Given the description of an element on the screen output the (x, y) to click on. 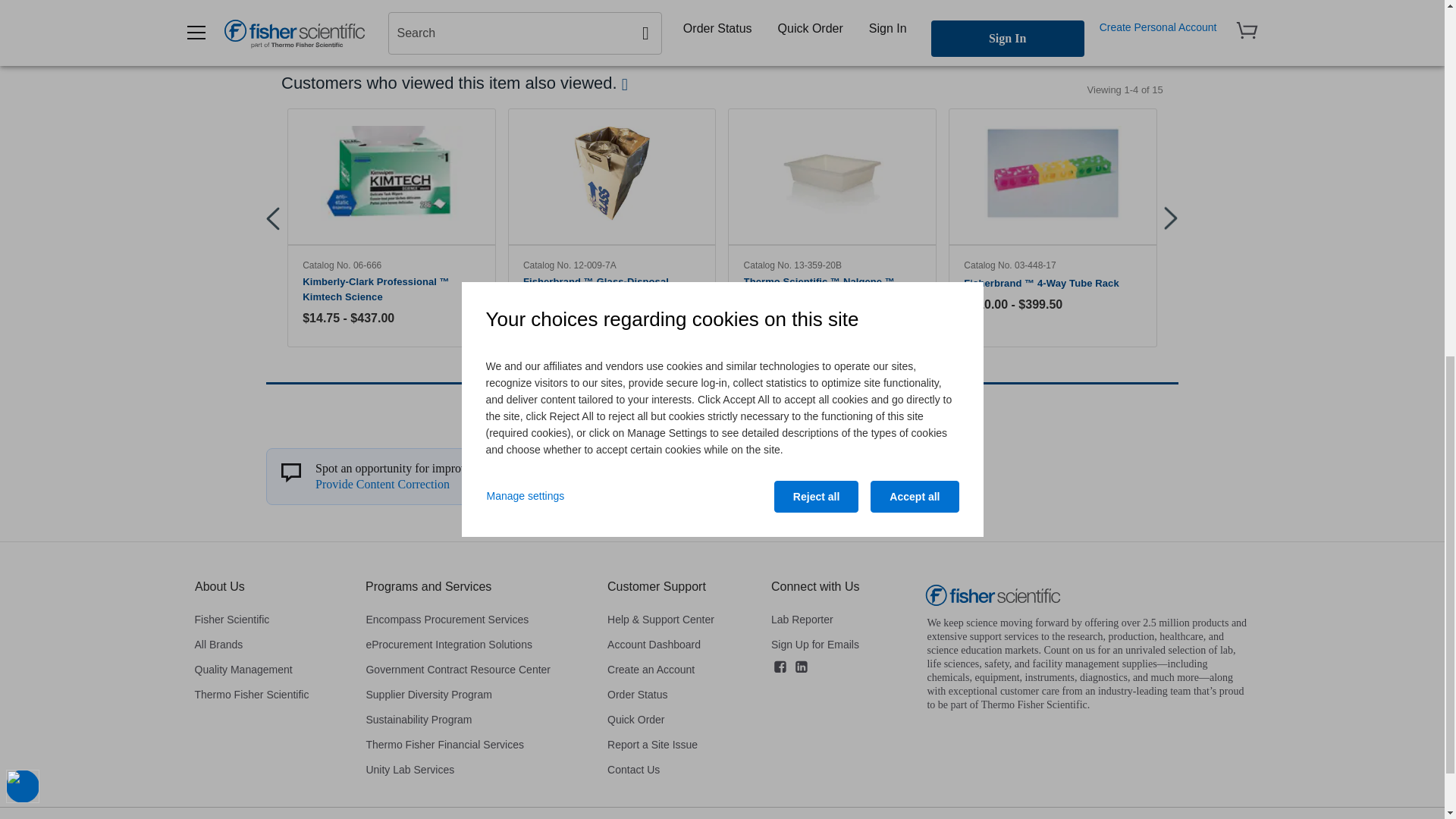
Facebook icon Facebook icon (780, 666)
LinkedIn icon LinkedIn icon (801, 666)
Accessibility Menu (22, 108)
